Given the description of an element on the screen output the (x, y) to click on. 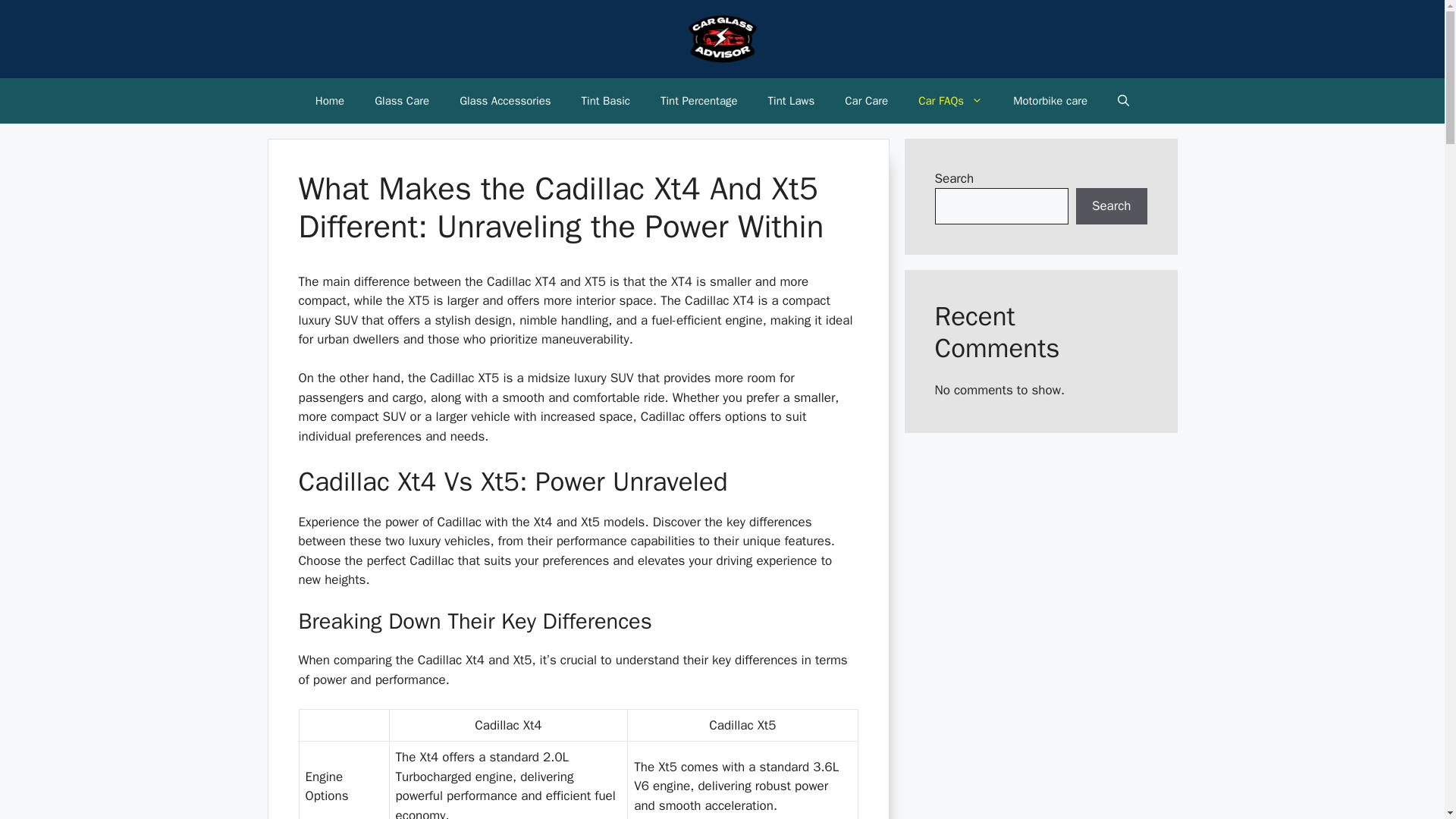
Tint Laws (790, 100)
Motorbike care (1049, 100)
Glass Care (401, 100)
Tint Basic (605, 100)
Tint Percentage (698, 100)
Home (329, 100)
Car FAQs (949, 100)
Glass Accessories (505, 100)
Car Care (865, 100)
